Given the description of an element on the screen output the (x, y) to click on. 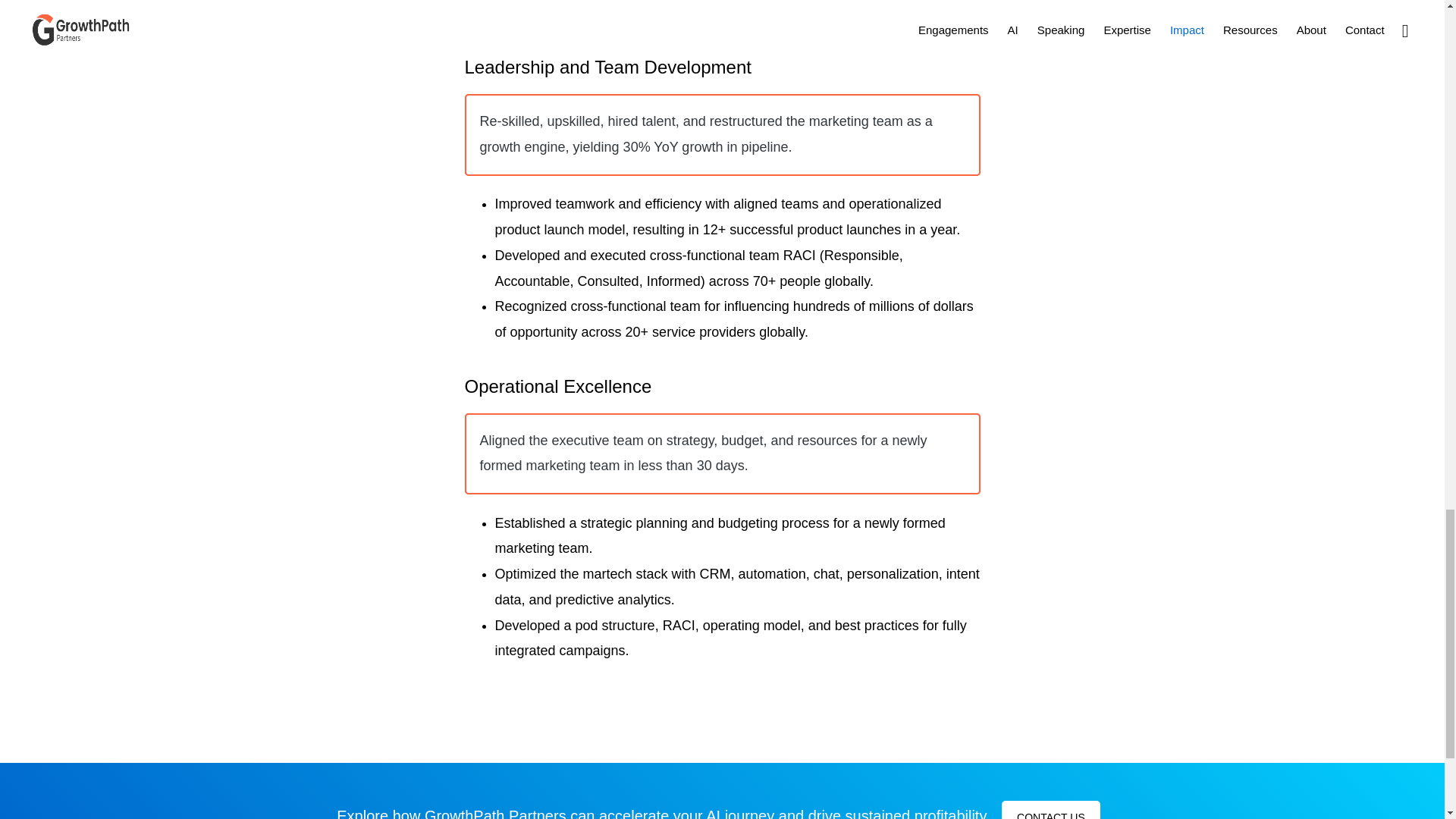
CONTACT US (1050, 809)
